Given the description of an element on the screen output the (x, y) to click on. 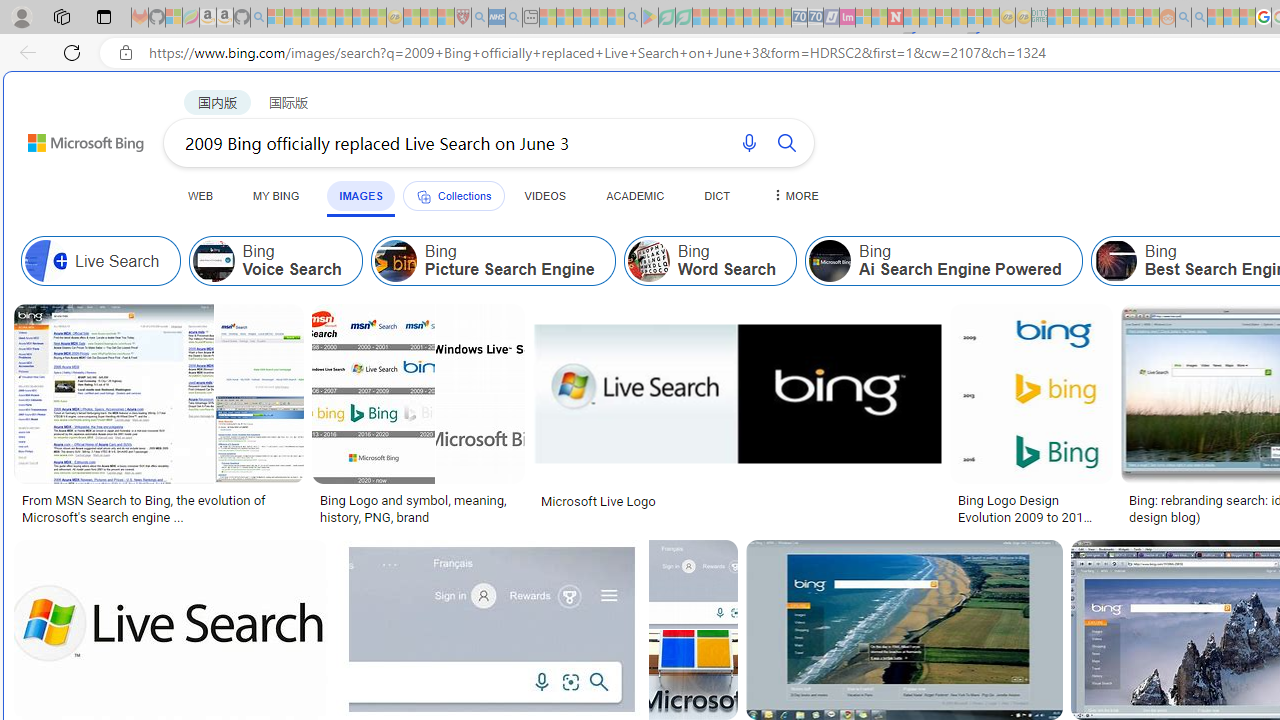
Bing Logo and symbol, meaning, history, PNG, brand (418, 508)
MY BING (276, 195)
Bing Picture Search Engine (395, 260)
Bing Word Search (648, 260)
Bing Word Search (710, 260)
DICT (717, 195)
MY BING (276, 195)
